Given the description of an element on the screen output the (x, y) to click on. 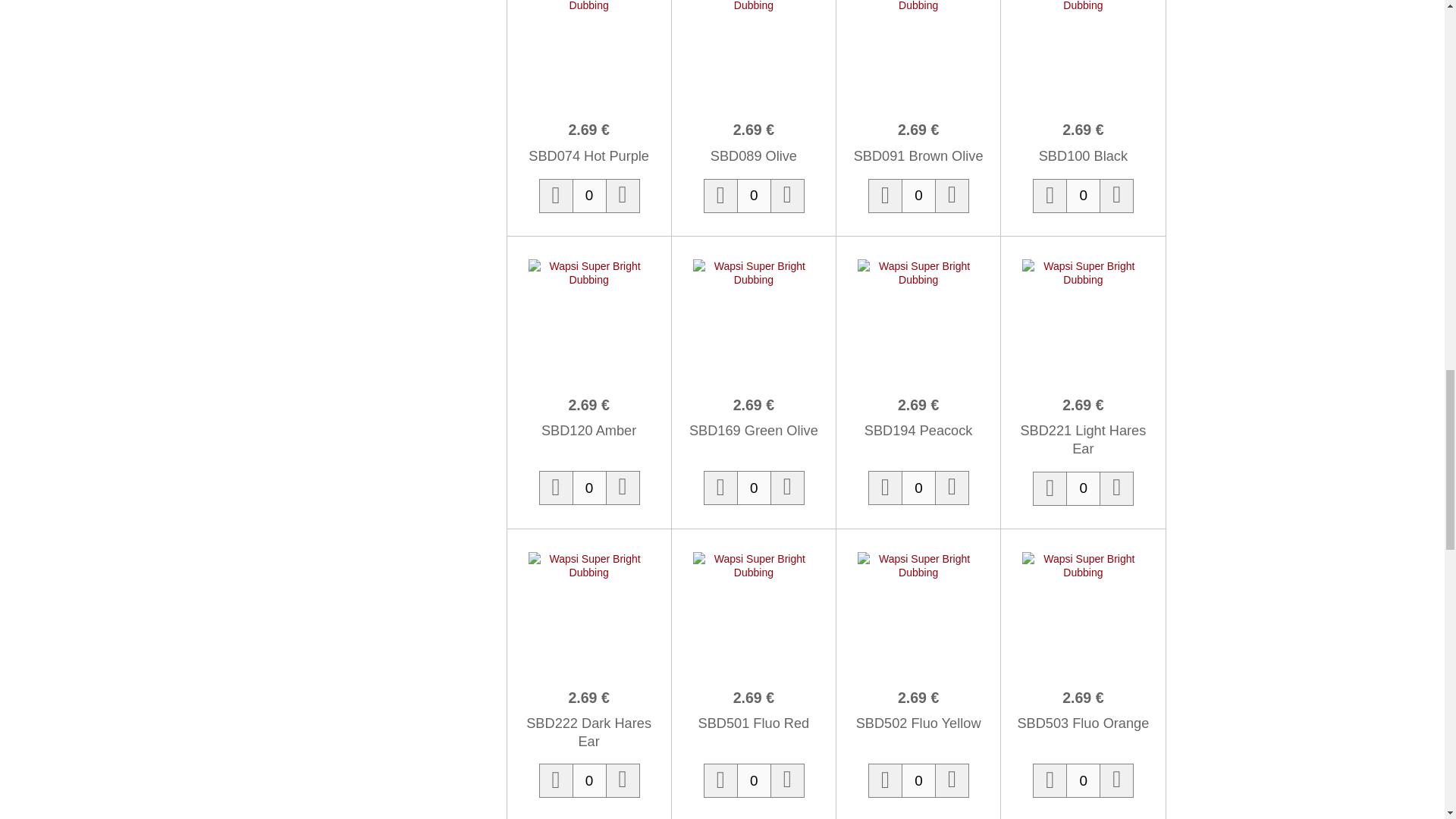
0 (589, 195)
0 (918, 195)
0 (753, 487)
0 (1082, 195)
0 (753, 195)
0 (918, 487)
0 (589, 487)
